Given the description of an element on the screen output the (x, y) to click on. 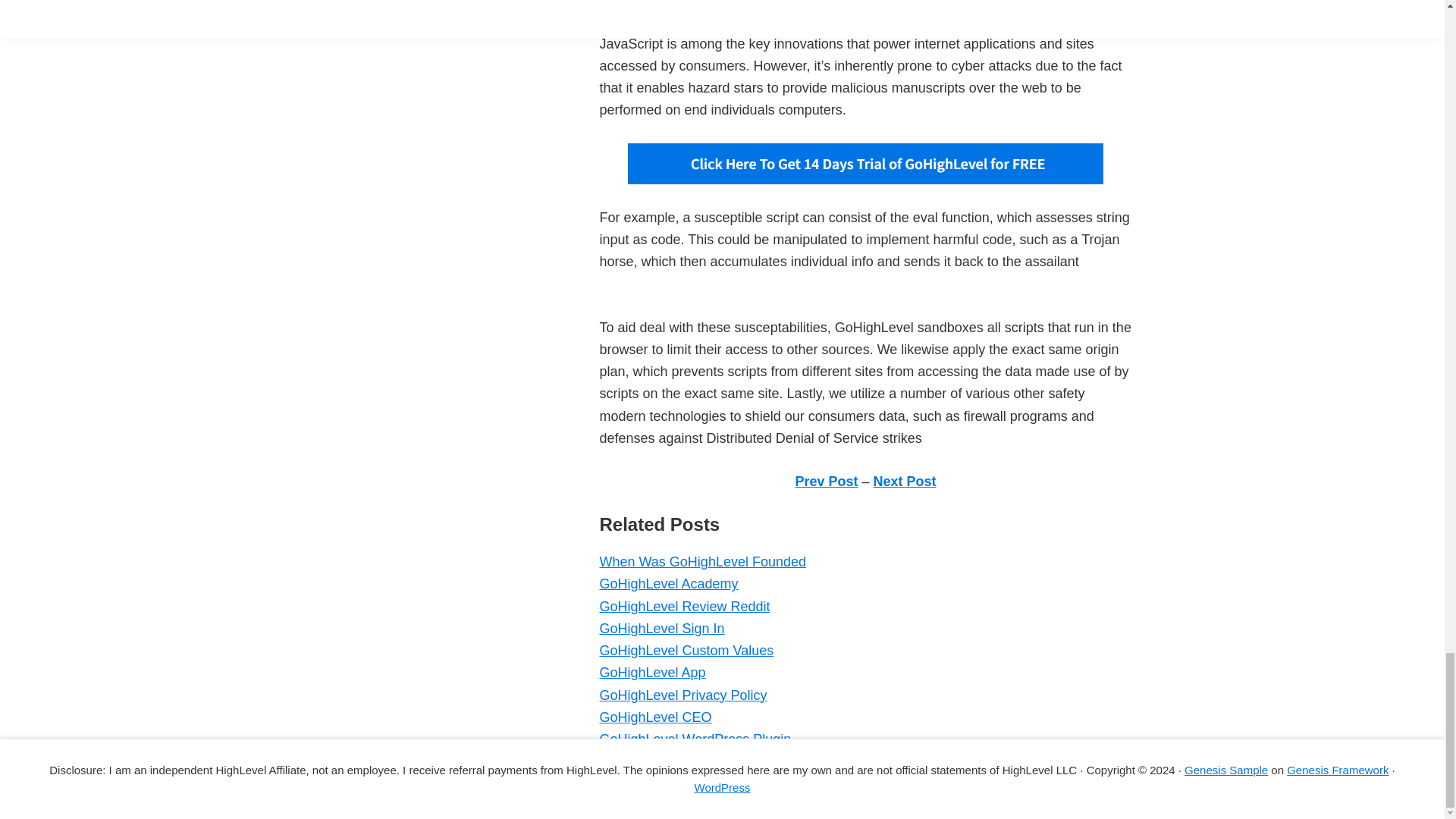
Next Post (904, 481)
GoHighLevel Privacy Policy (682, 694)
GoHighLevel Sign In (660, 628)
GoHighLevel Academy (668, 583)
GoHighLevel WordPress Plugin (694, 739)
GoHighLevel Custom Values (685, 650)
GoHighLevel Review Reddit (684, 606)
When Was GoHighLevel Founded (701, 561)
Free GoHighLevel Snapshots (687, 761)
GoHighLevel Academy (668, 583)
